Given the description of an element on the screen output the (x, y) to click on. 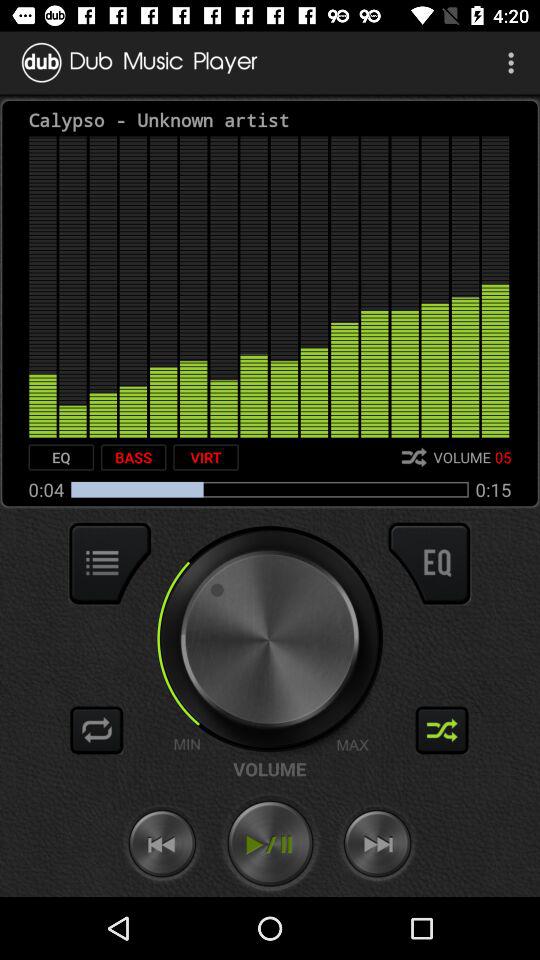
go back (162, 844)
